Given the description of an element on the screen output the (x, y) to click on. 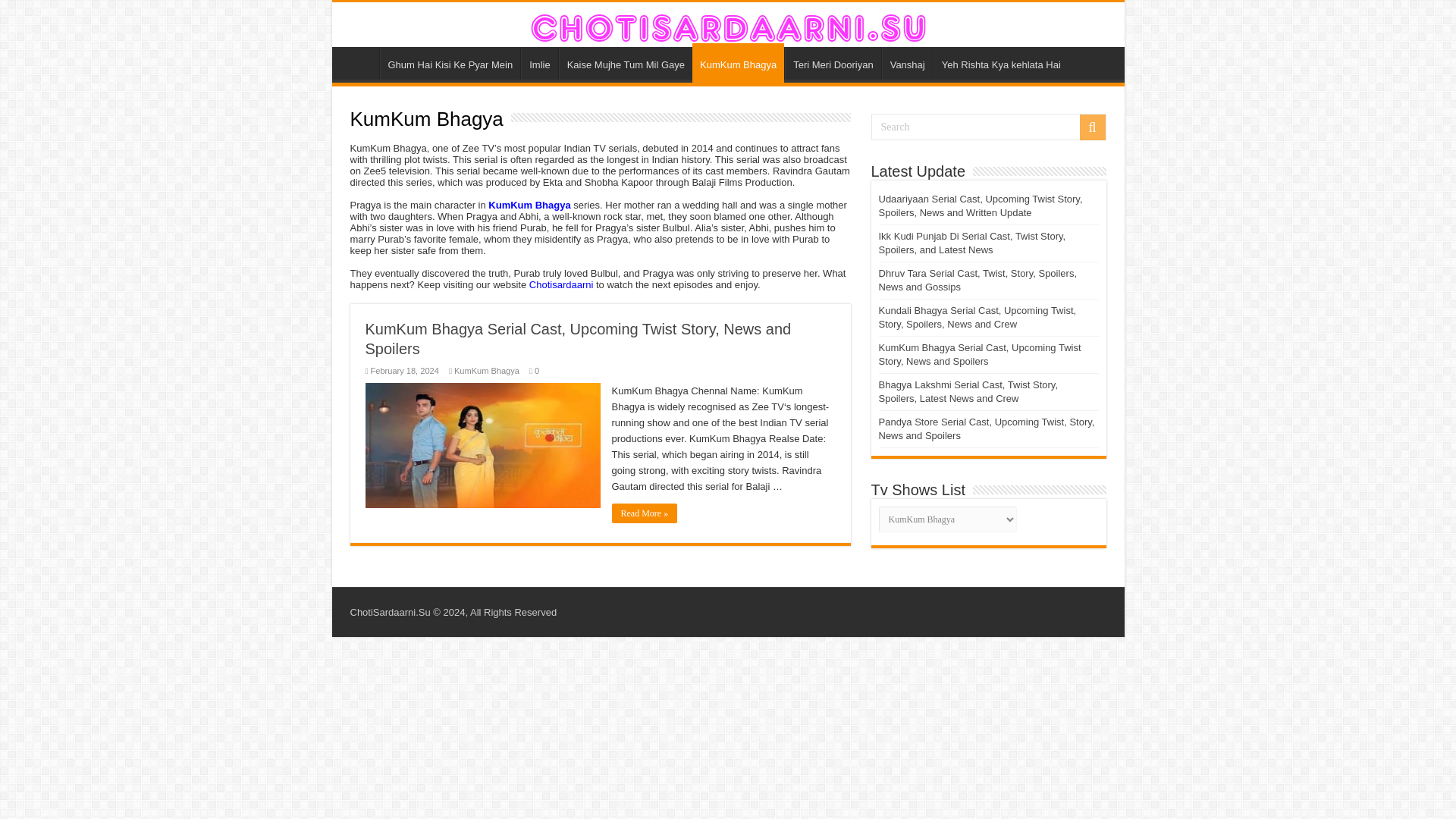
KumKum Bhagya (528, 204)
Choti Sardaarni (727, 23)
Teri Meri Dooriyan (832, 62)
Home (358, 62)
Kaise Mujhe Tum Mil Gaye (626, 62)
Ghum Hai Kisi Ke Pyar Mein (448, 62)
Vanshaj (907, 62)
